Given the description of an element on the screen output the (x, y) to click on. 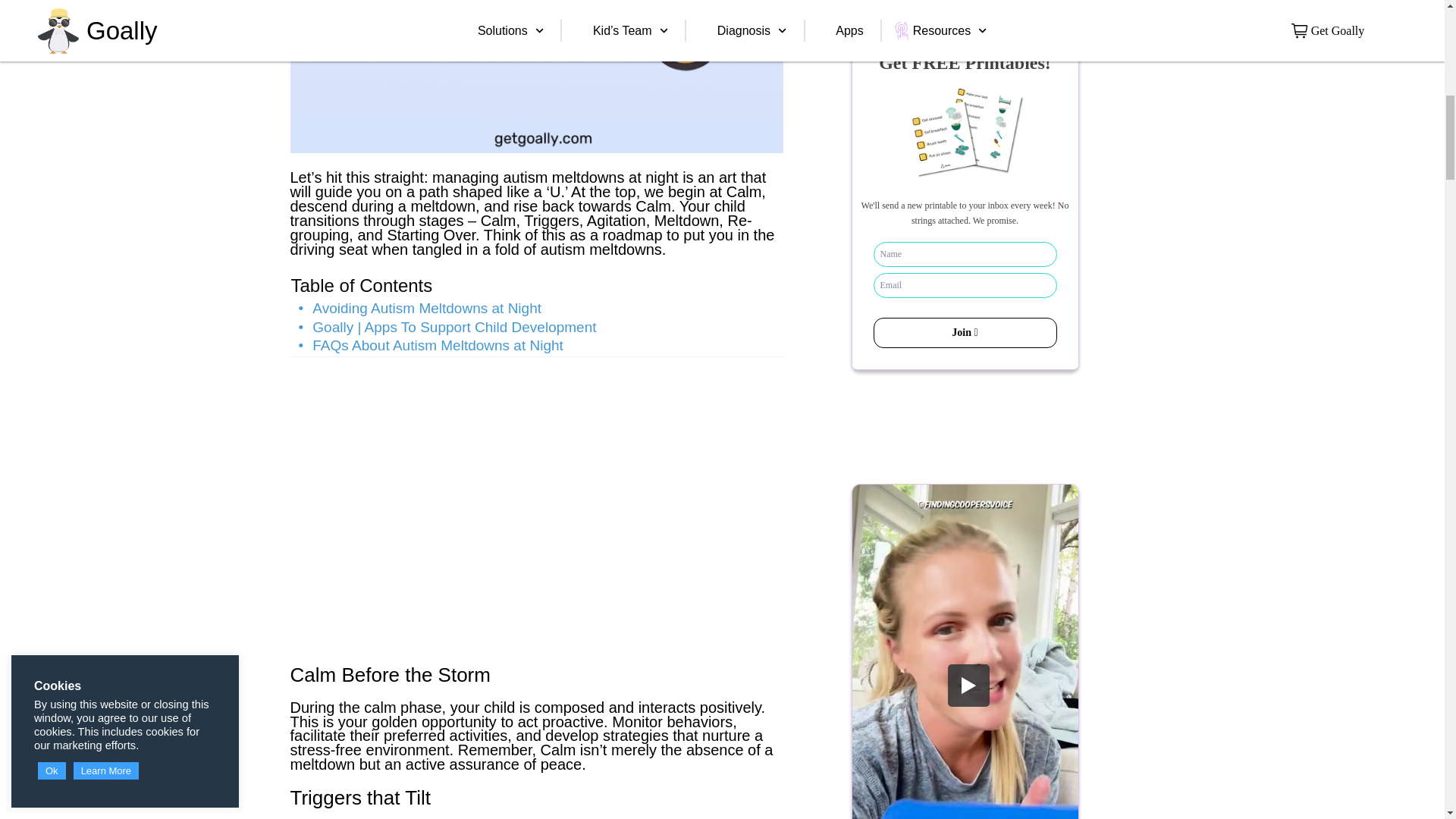
Avoiding Autism Meltdowns at Night (419, 308)
FAQs About Autism Meltdowns at Night (430, 345)
